Given the description of an element on the screen output the (x, y) to click on. 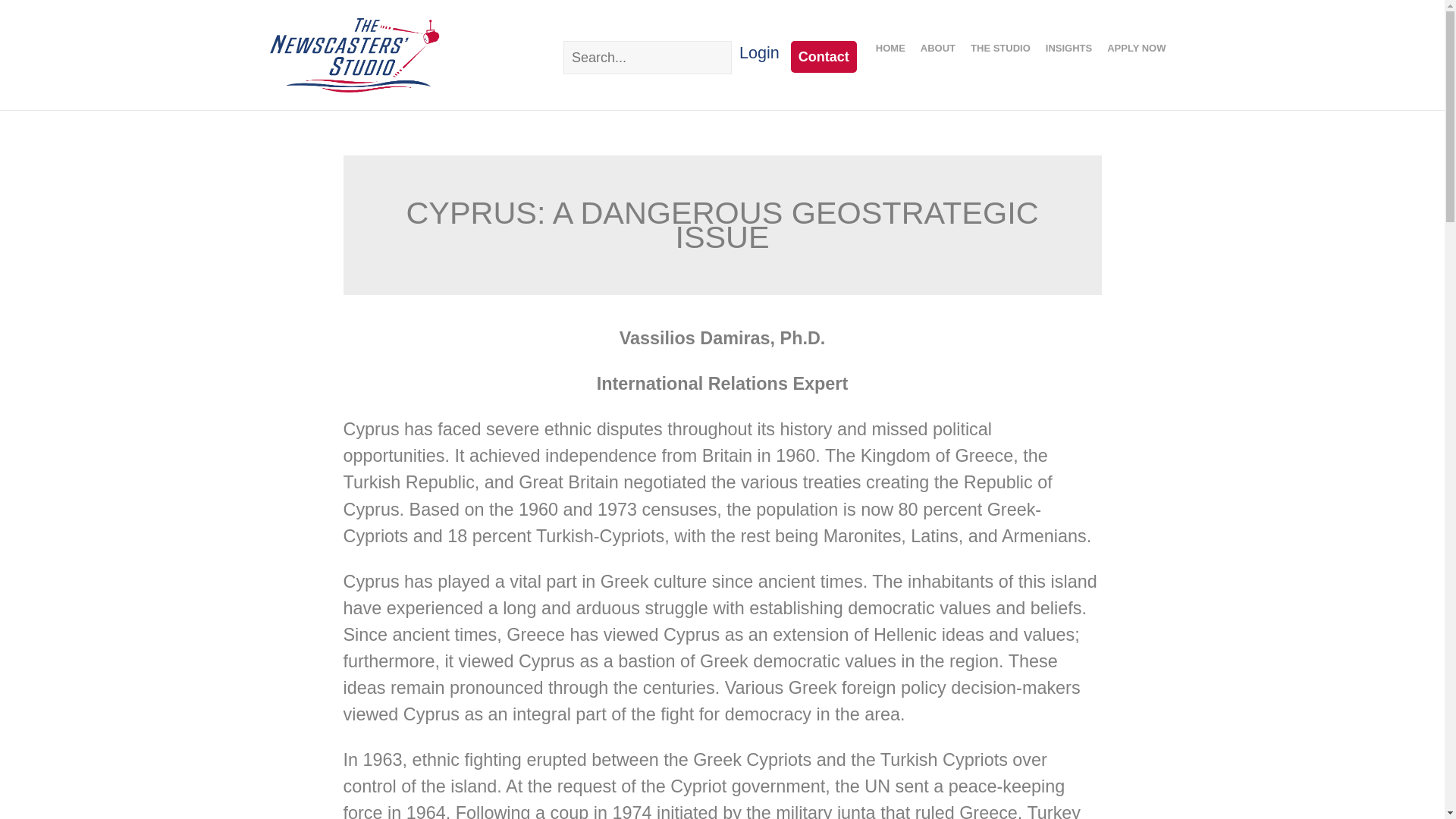
Contact (823, 56)
APPLY NOW (1136, 48)
INSIGHTS (1068, 48)
THE STUDIO (1000, 48)
Login (758, 52)
